Given the description of an element on the screen output the (x, y) to click on. 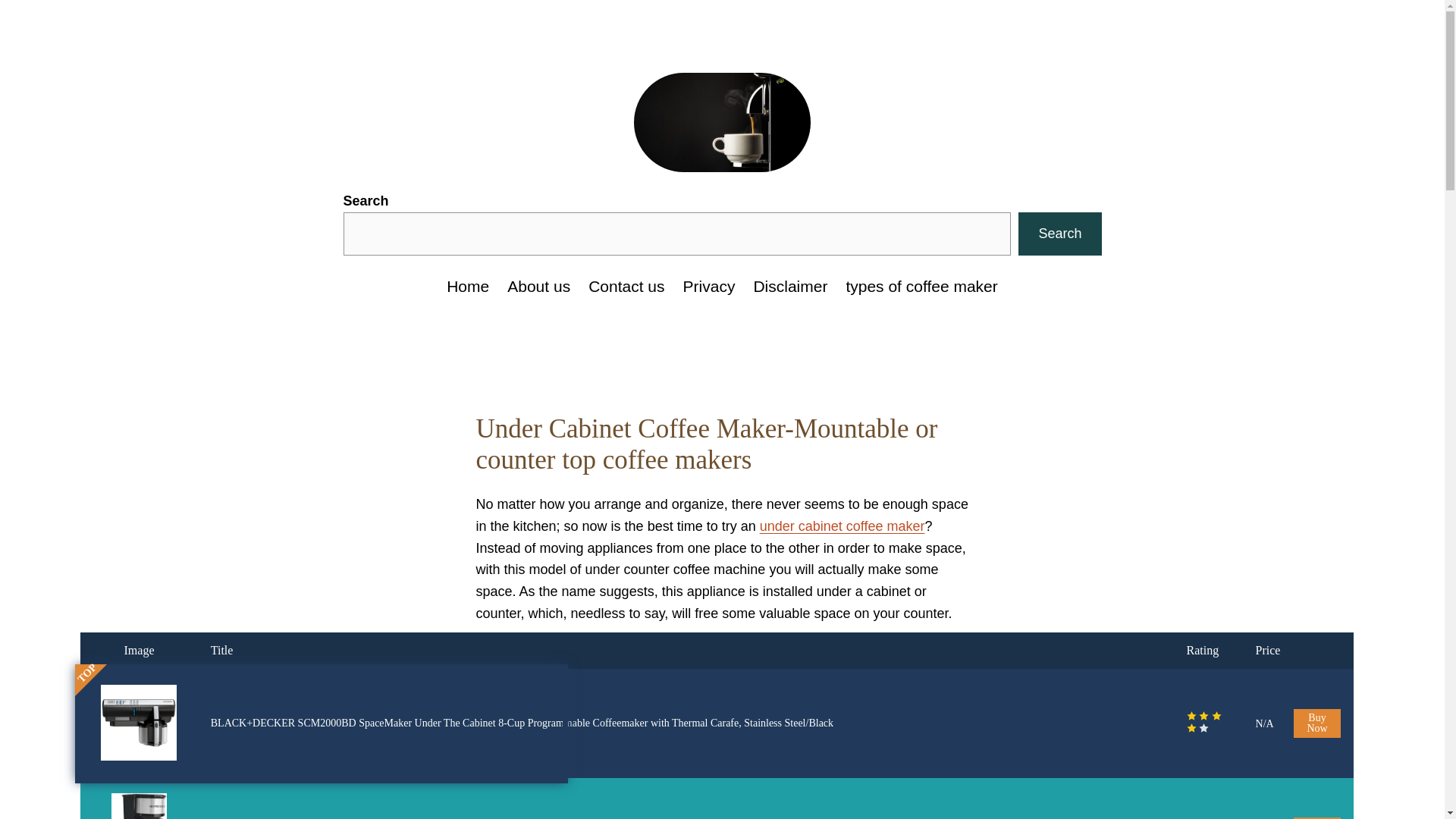
About us (538, 286)
Buy Now (1317, 818)
Contact us (625, 286)
Buy Now (1317, 723)
under cabinet coffee maker (842, 525)
TOP (86, 666)
types of coffee maker (921, 286)
Disclaimer (789, 286)
Privacy (708, 286)
Home (467, 286)
Search (1058, 233)
